Given the description of an element on the screen output the (x, y) to click on. 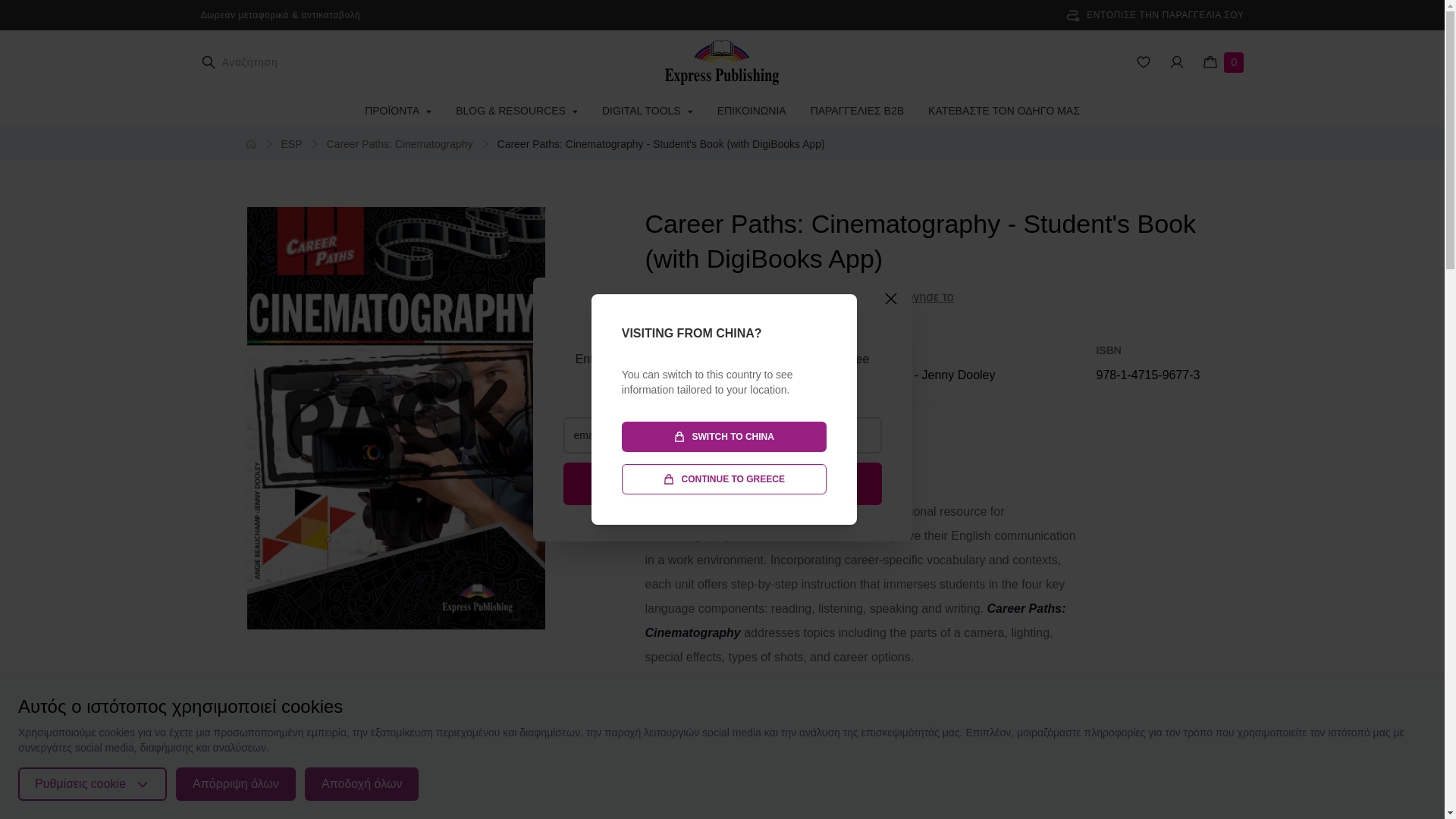
Career Paths: Cinematography (399, 143)
Express Publishing (721, 62)
ESP (291, 143)
Home (250, 143)
